Given the description of an element on the screen output the (x, y) to click on. 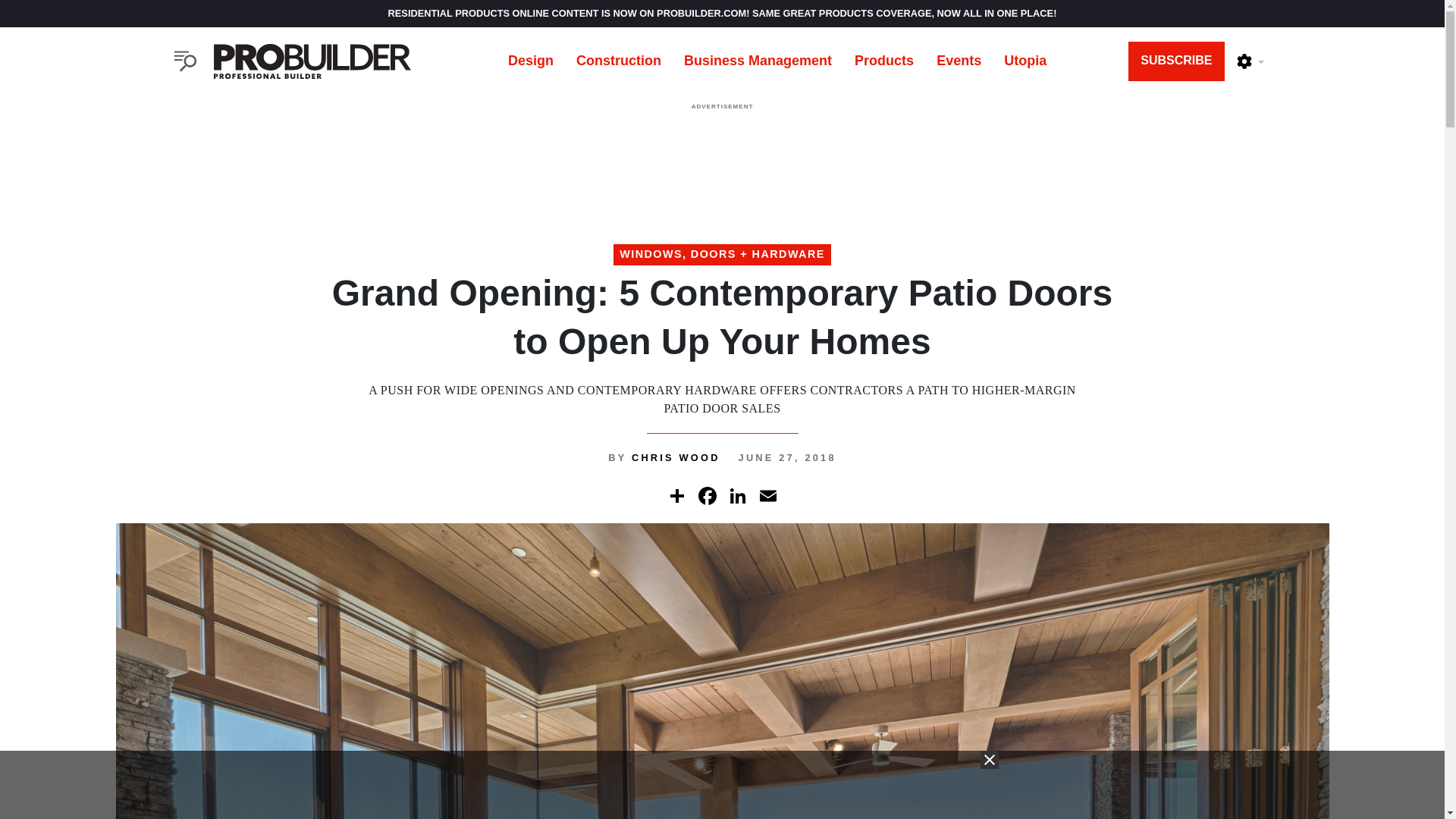
CHRIS WOOD (675, 457)
Wednesday, June 27, 2018 - 15:13 (786, 457)
Facebook (706, 495)
Email (767, 495)
SUBSCRIBE (1176, 61)
Utopia (1025, 60)
Products (883, 60)
true (721, 152)
Business Management (757, 60)
Events (958, 60)
Construction (618, 60)
LinkedIn (737, 495)
true (721, 785)
Design (530, 60)
